Given the description of an element on the screen output the (x, y) to click on. 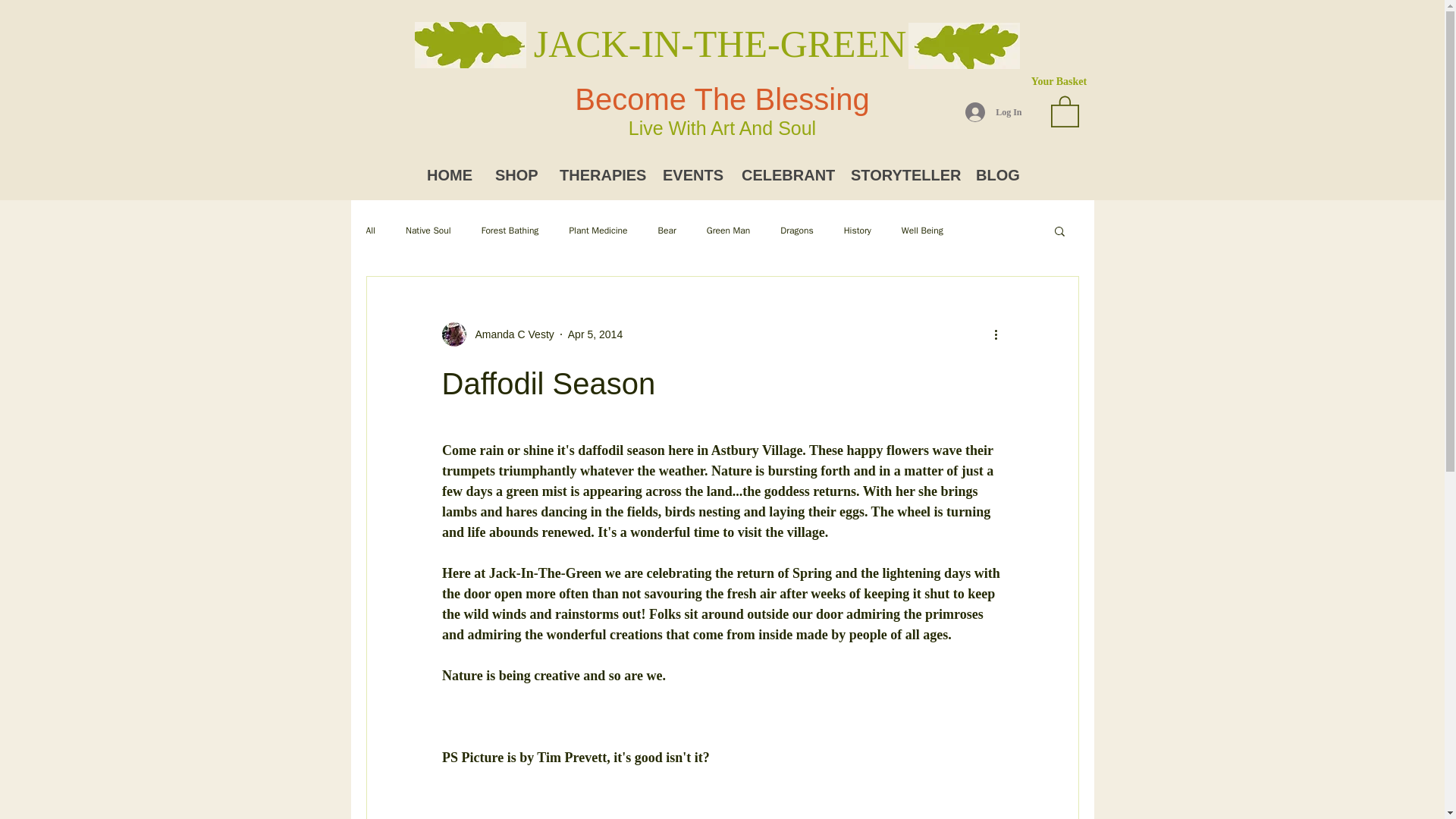
SHOP (515, 175)
Amanda C Vesty (509, 334)
Log In (993, 111)
Apr 5, 2014 (595, 334)
HOME (448, 175)
